Given the description of an element on the screen output the (x, y) to click on. 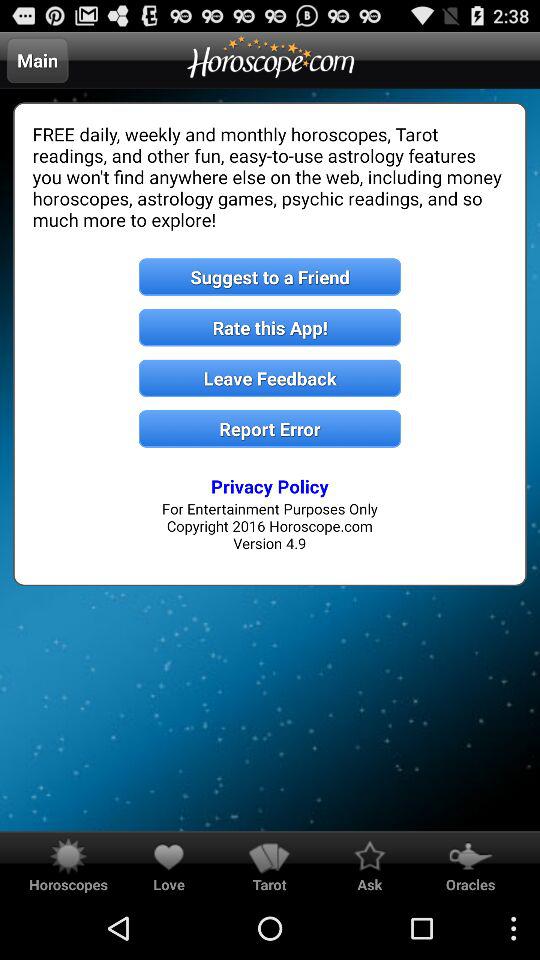
flip to privacy policy item (269, 486)
